Given the description of an element on the screen output the (x, y) to click on. 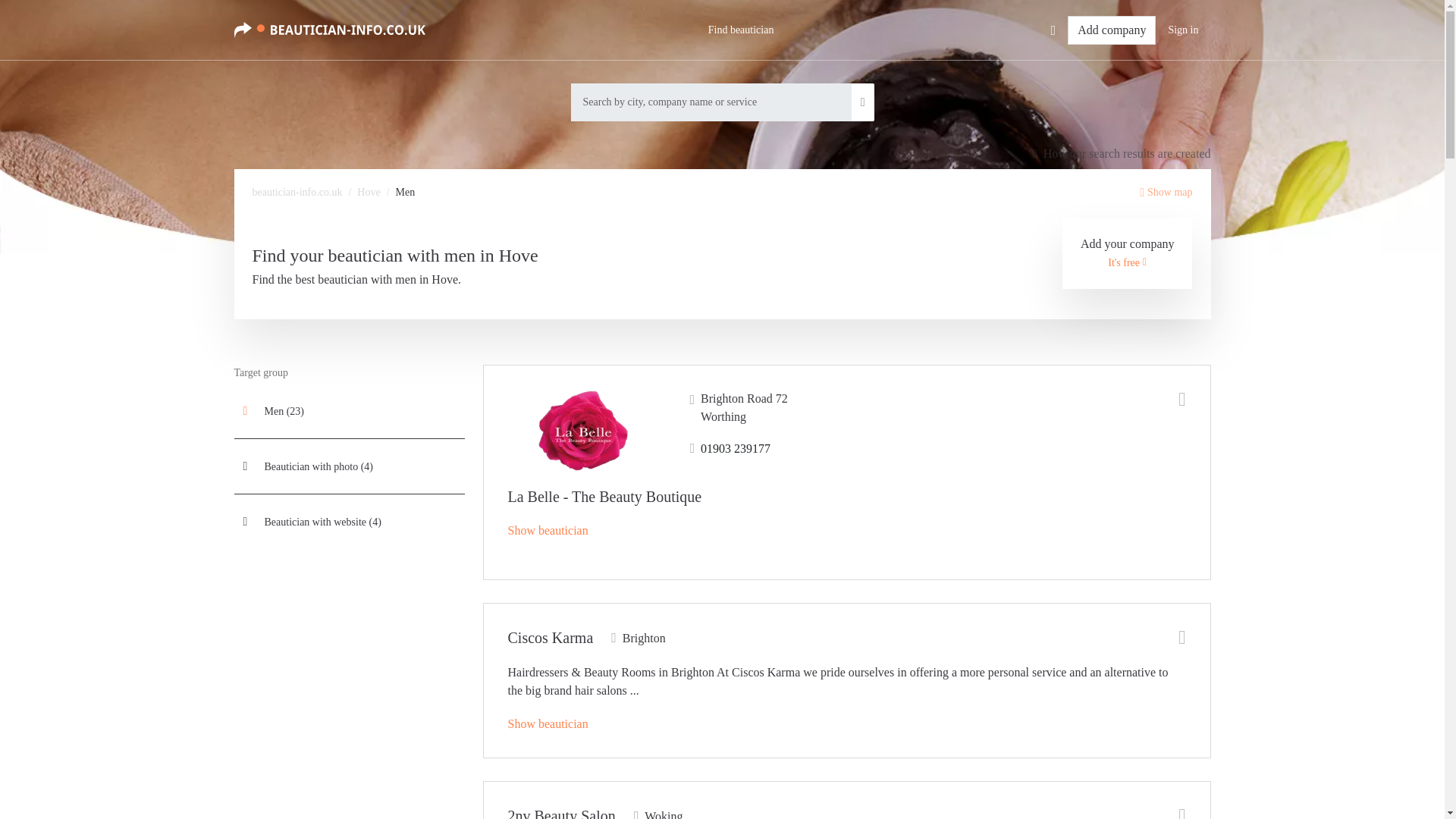
Add company (1111, 29)
Find beautician (740, 29)
